Given the description of an element on the screen output the (x, y) to click on. 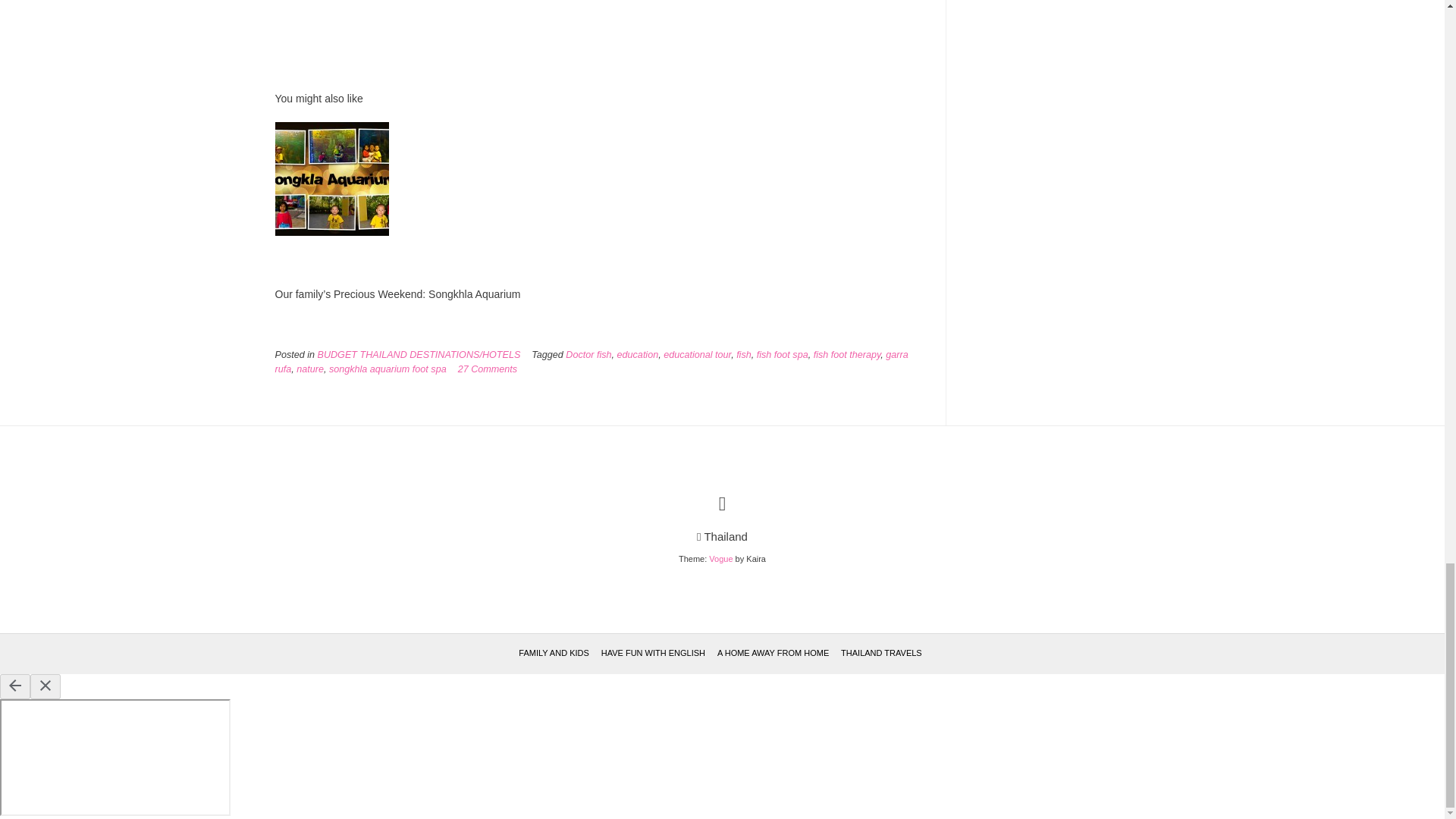
fish foot spa (782, 354)
nature (310, 368)
fish (743, 354)
Our family's Precious weekend (331, 232)
educational tour (696, 354)
garra rufa (591, 361)
27 Comments (487, 368)
fish foot therapy (846, 354)
education (638, 354)
songkhla aquarium foot spa (387, 368)
